Given the description of an element on the screen output the (x, y) to click on. 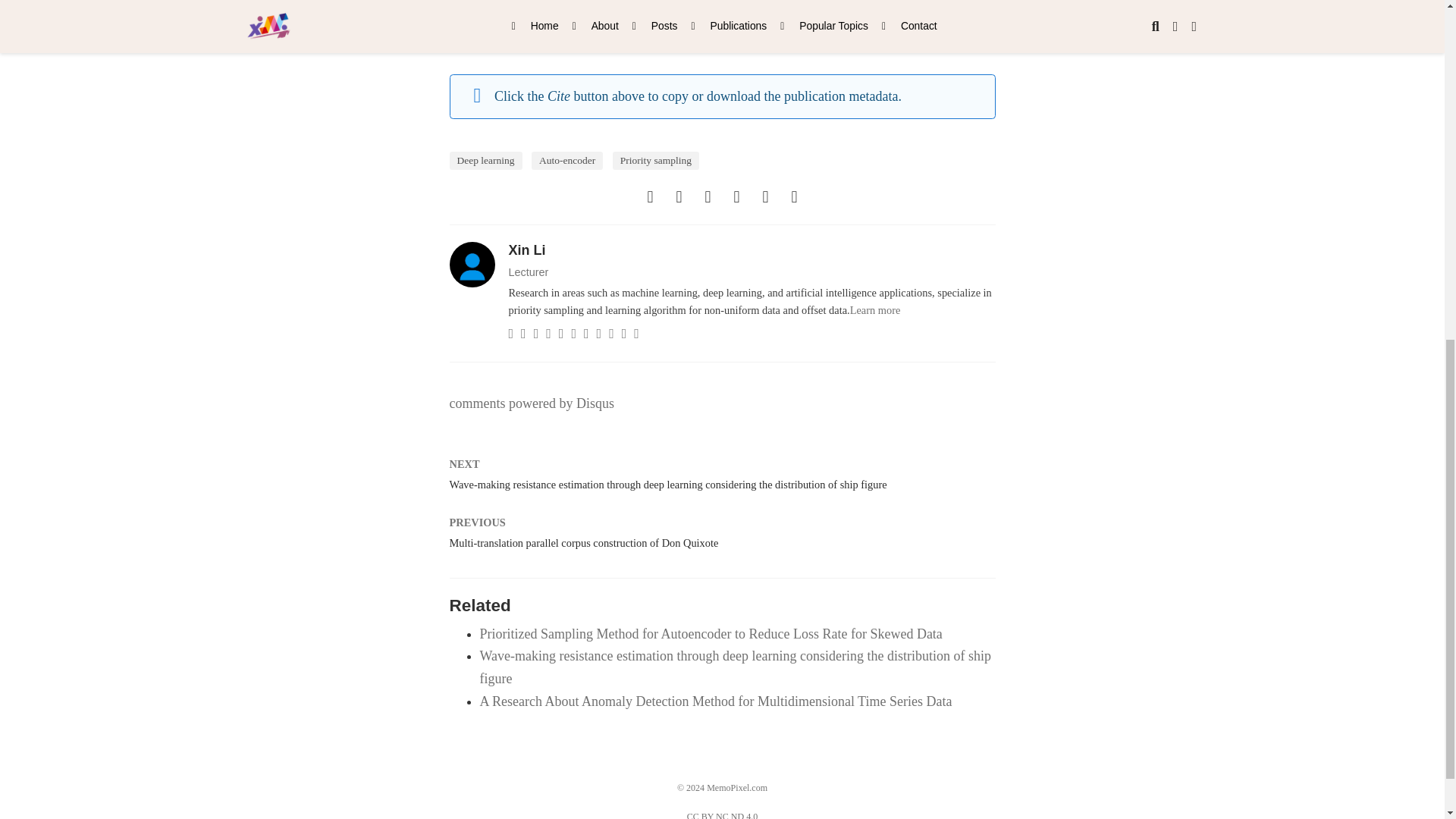
Deep learning (484, 160)
Auto-encoder (566, 160)
Priority sampling (655, 160)
